Given the description of an element on the screen output the (x, y) to click on. 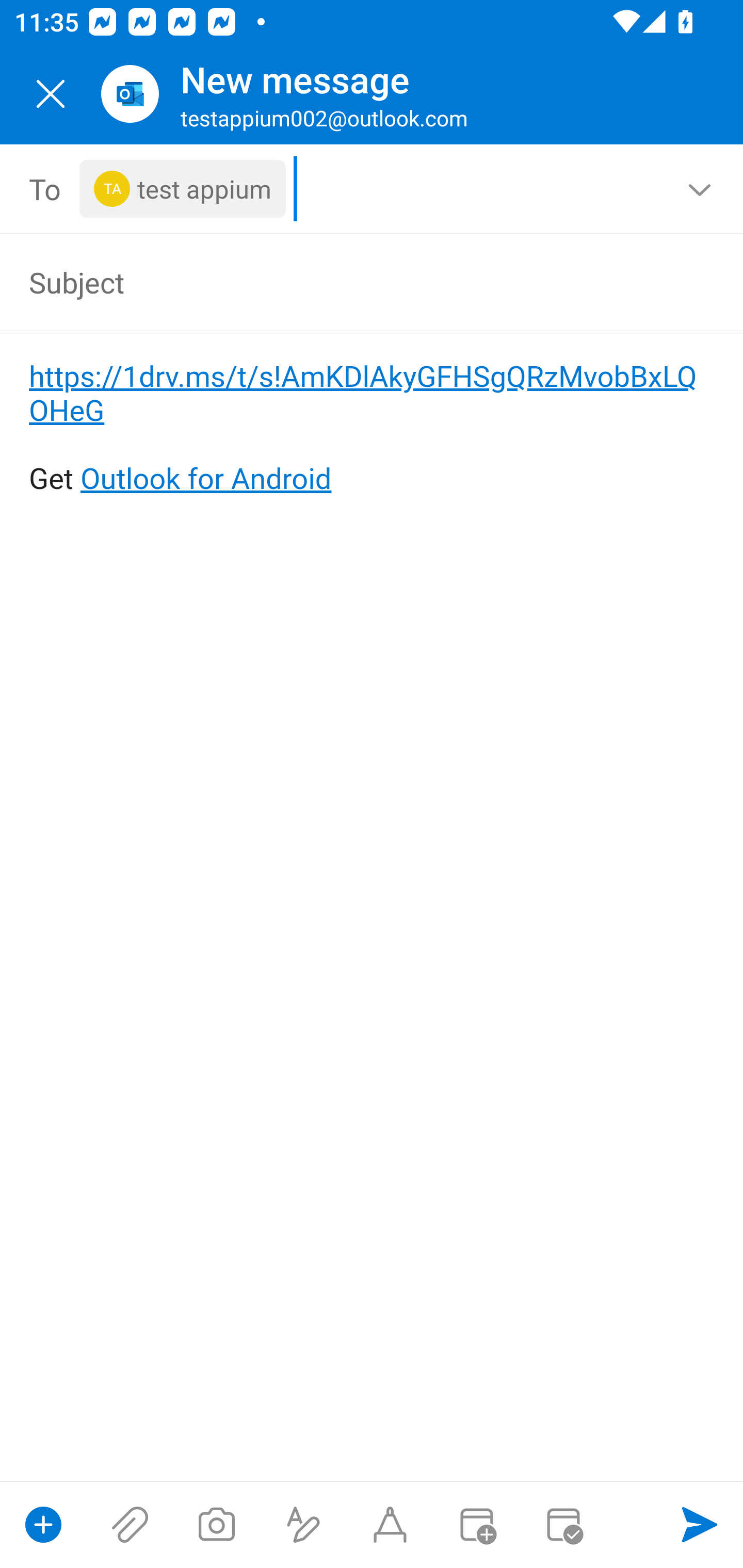
Close (50, 93)
Subject (342, 281)
Show compose options (43, 1524)
Attach files (129, 1524)
Take a photo (216, 1524)
Show formatting options (303, 1524)
Start Ink compose (389, 1524)
Convert to event (476, 1524)
Send availability (563, 1524)
Send (699, 1524)
